Given the description of an element on the screen output the (x, y) to click on. 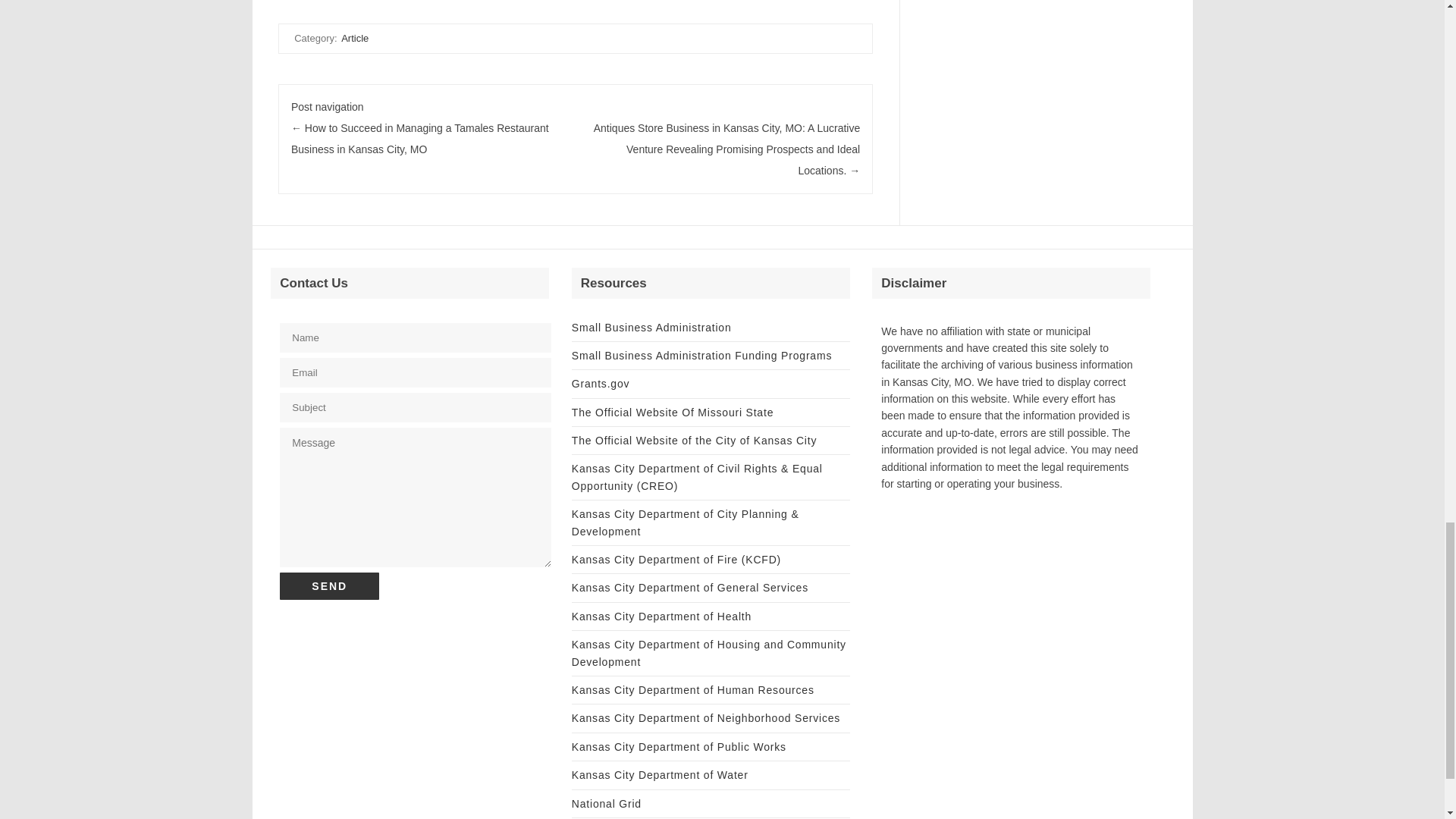
Kansas City Department of Health (661, 616)
Kansas City Department of General Services (690, 587)
Send (328, 585)
Kansas City Department of Human Resources (692, 689)
Kansas City Department of Housing and Community Development (708, 652)
The Official Website Of Missouri State (672, 412)
National Grid (607, 803)
Grants.gov (600, 383)
Article (354, 38)
Kansas City Department of Public Works (679, 746)
Small Business Administration (652, 327)
The Official Website of the City of Kansas City (694, 440)
Kansas City Department of Neighborhood Services (706, 717)
Small Business Administration Funding Programs (701, 355)
Kansas City Department of Water (660, 775)
